Given the description of an element on the screen output the (x, y) to click on. 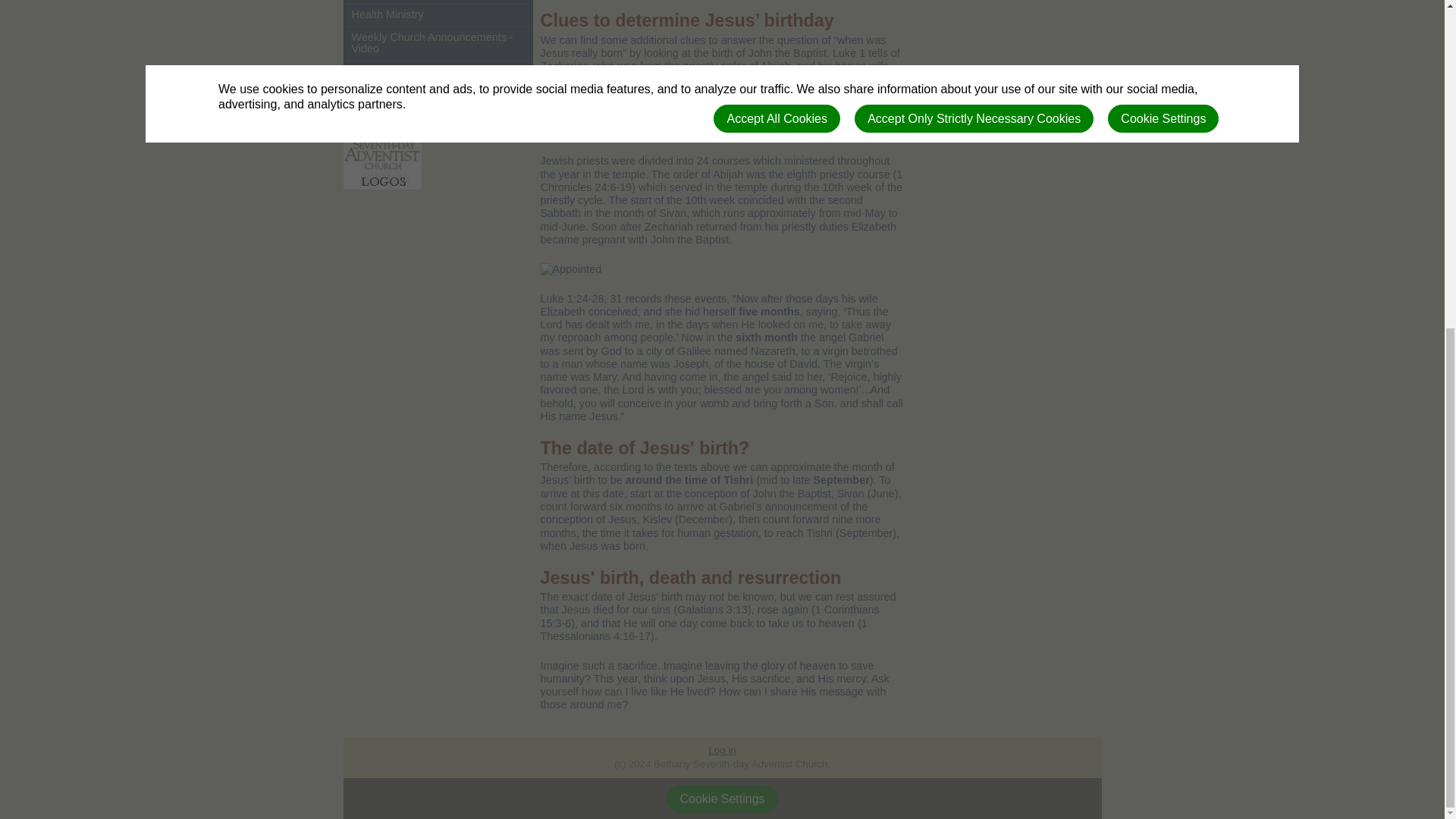
Weekly Church Announcements - Video (437, 42)
Weekly Bulletin (437, 1)
Log in (722, 749)
Jesus is the Answer Gospel Series 2024 (437, 76)
Health Ministry (437, 14)
